Given the description of an element on the screen output the (x, y) to click on. 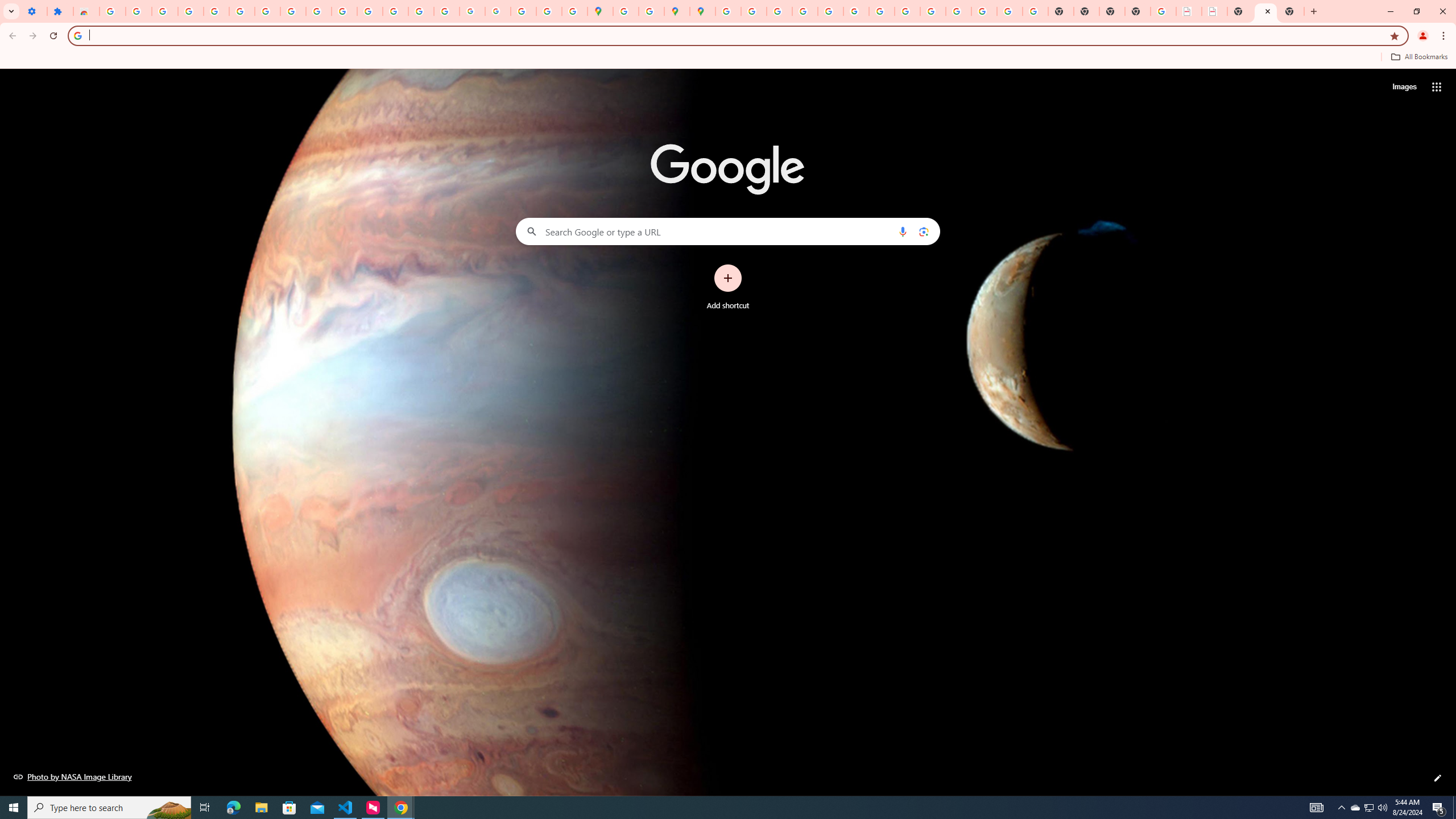
Learn how to find your photos - Google Photos Help (190, 11)
Sign in - Google Accounts (242, 11)
Customize this page (1437, 778)
Privacy Help Center - Policies Help (779, 11)
Search by image (922, 230)
